Given the description of an element on the screen output the (x, y) to click on. 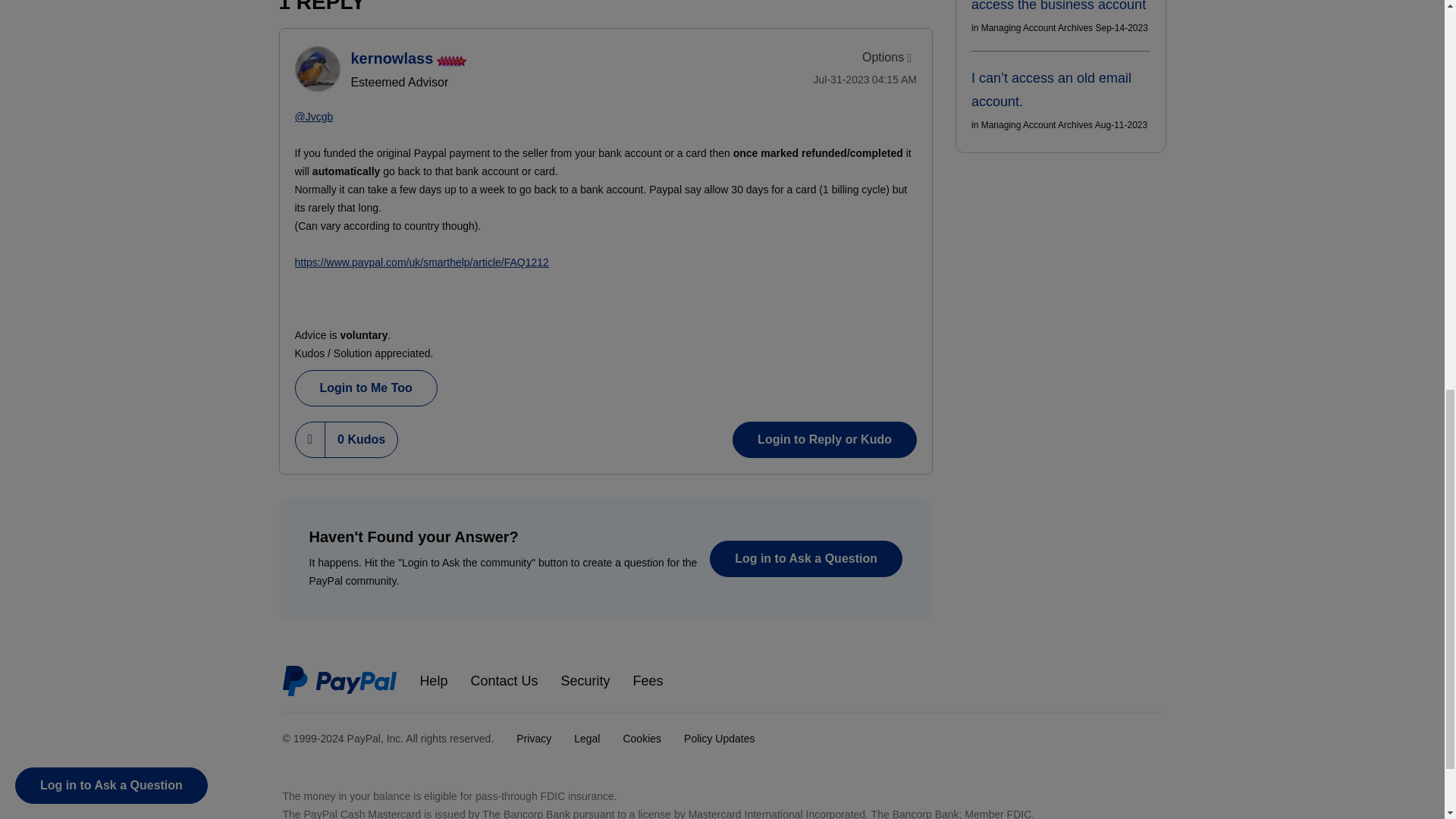
Payment declined for online payment (804, 2)
Transactions Archives (710, 2)
Can't transfer money from balance to bank account (893, 2)
